Given the description of an element on the screen output the (x, y) to click on. 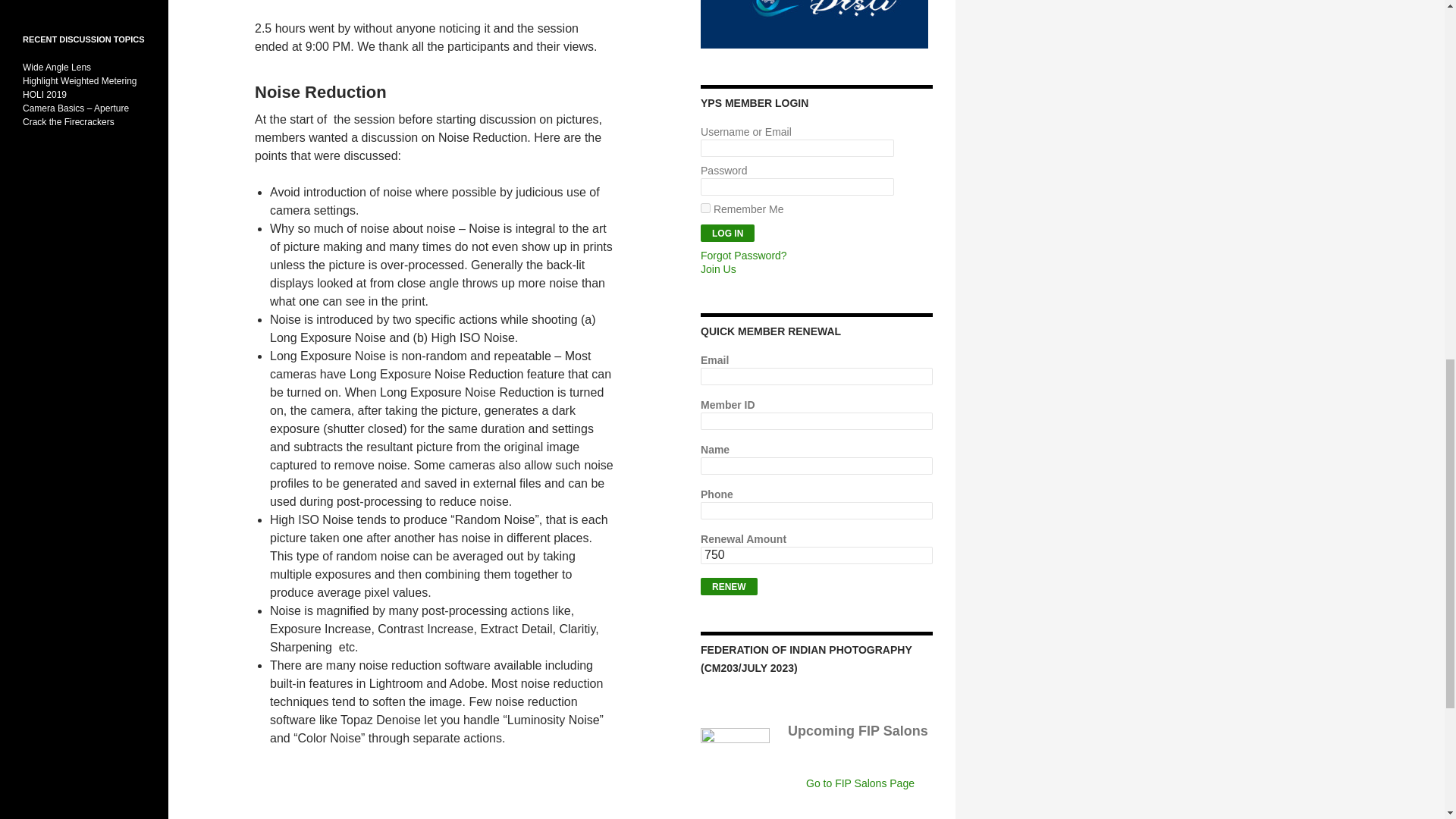
Join Us (718, 268)
Log In (727, 232)
Renew (728, 586)
on (705, 207)
Forgot Password? (743, 255)
Log In (727, 232)
Go to FIP Salons Page (860, 783)
750 (816, 555)
Renew (728, 586)
